Given the description of an element on the screen output the (x, y) to click on. 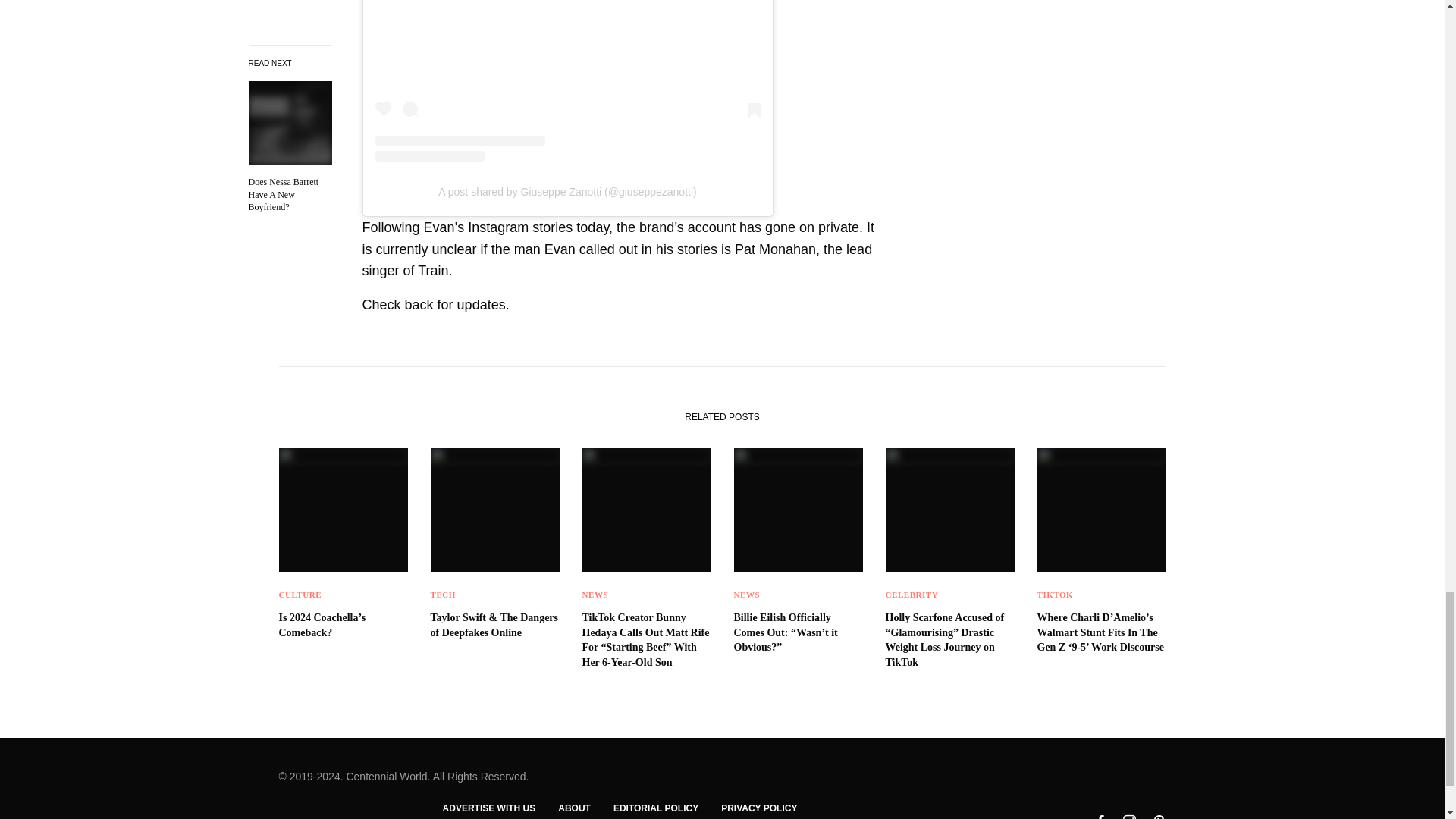
CULTURE (300, 593)
View this post on Instagram (567, 80)
TECH (442, 593)
NEWS (595, 593)
NEWS (746, 593)
